Given the description of an element on the screen output the (x, y) to click on. 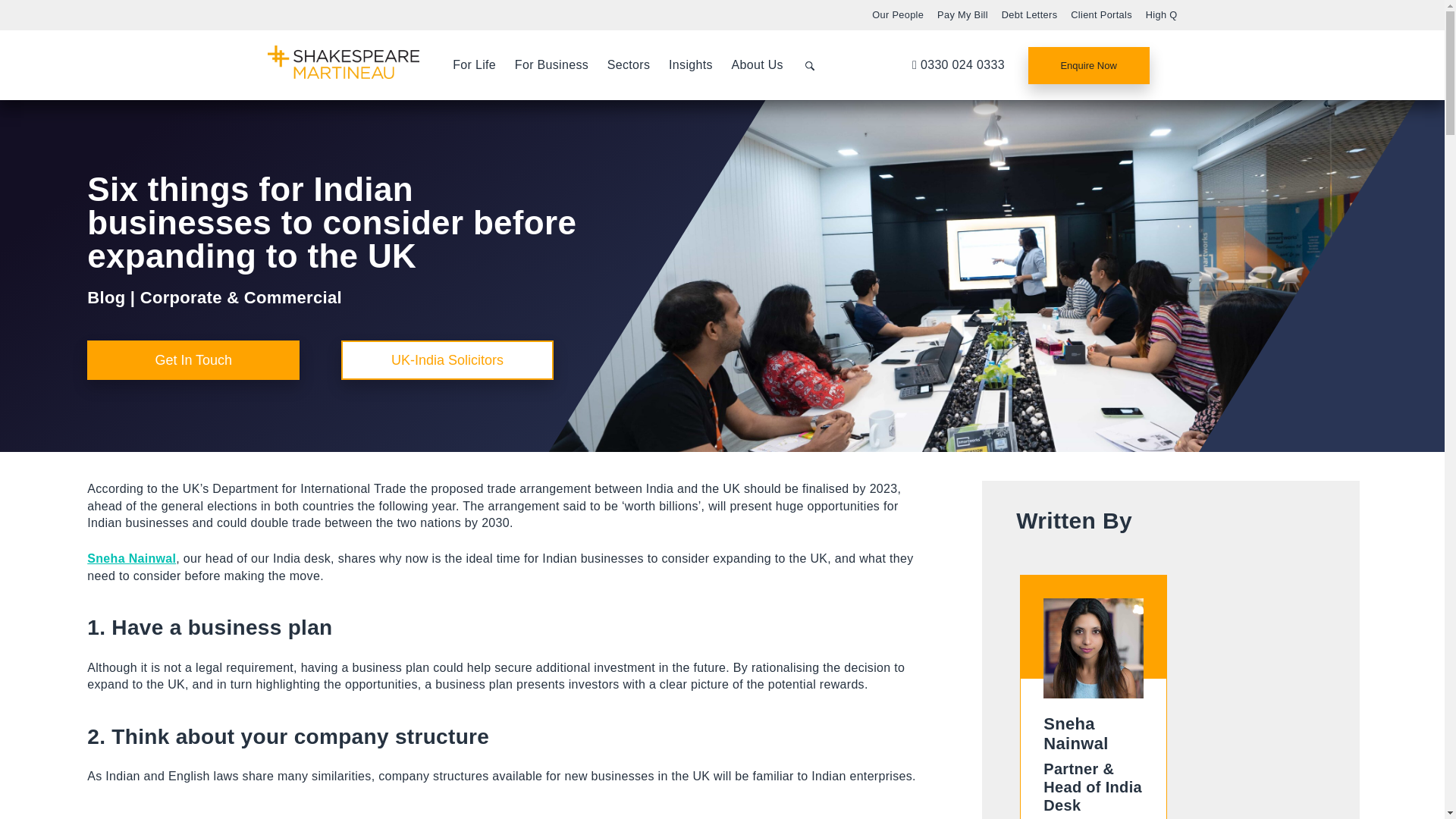
Client Portals (1101, 14)
Search (809, 65)
High Q (1161, 14)
Pay My Bill (962, 14)
Debt Letters (1029, 14)
Our People (897, 14)
image of Sneha Nainwal (1092, 648)
